Given the description of an element on the screen output the (x, y) to click on. 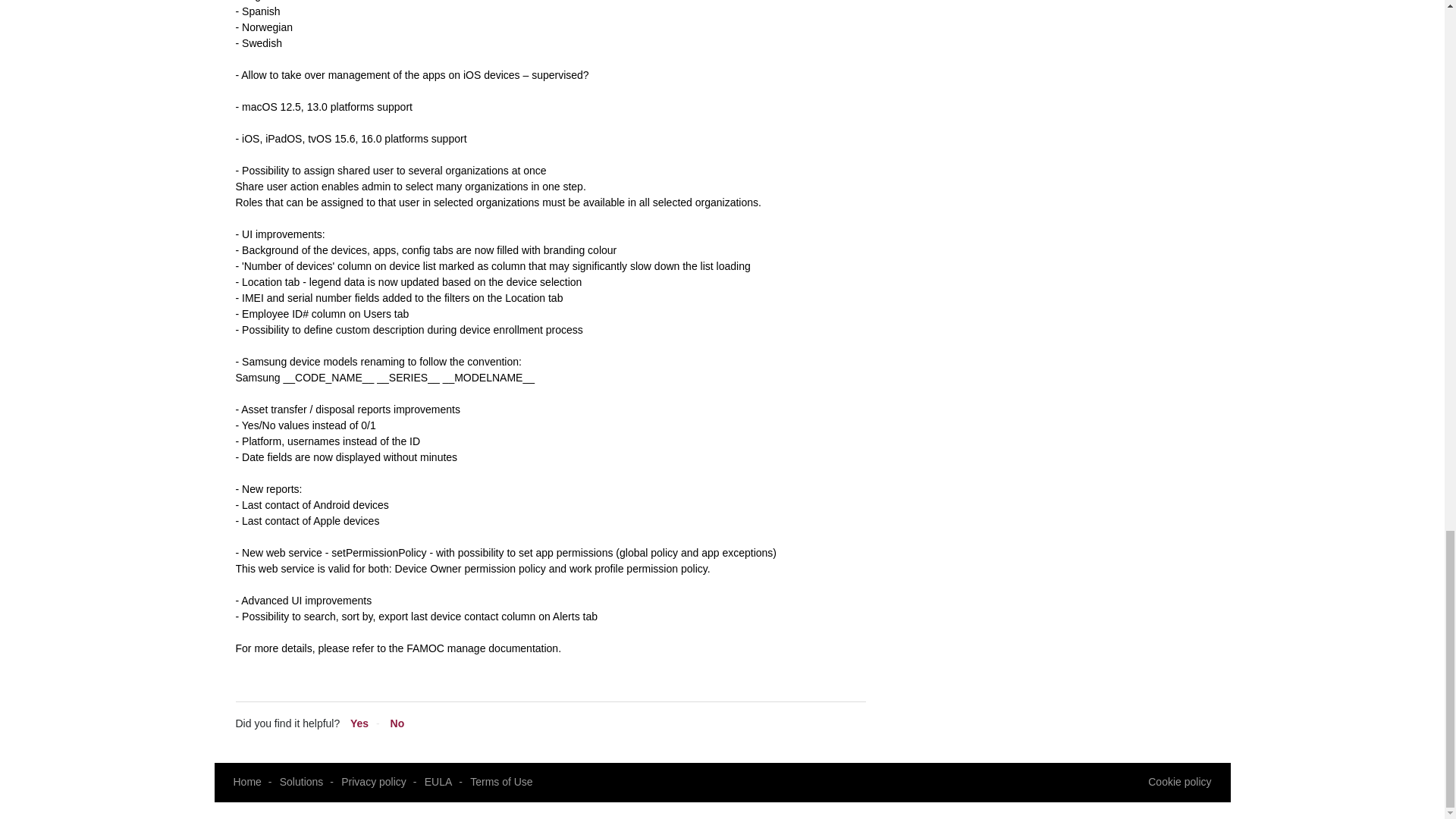
EULA (438, 781)
Terms of Use (501, 781)
Why we love Cookies (1179, 782)
Privacy policy (373, 781)
Cookie policy (1179, 782)
Home (247, 781)
Solutions (301, 781)
